Given the description of an element on the screen output the (x, y) to click on. 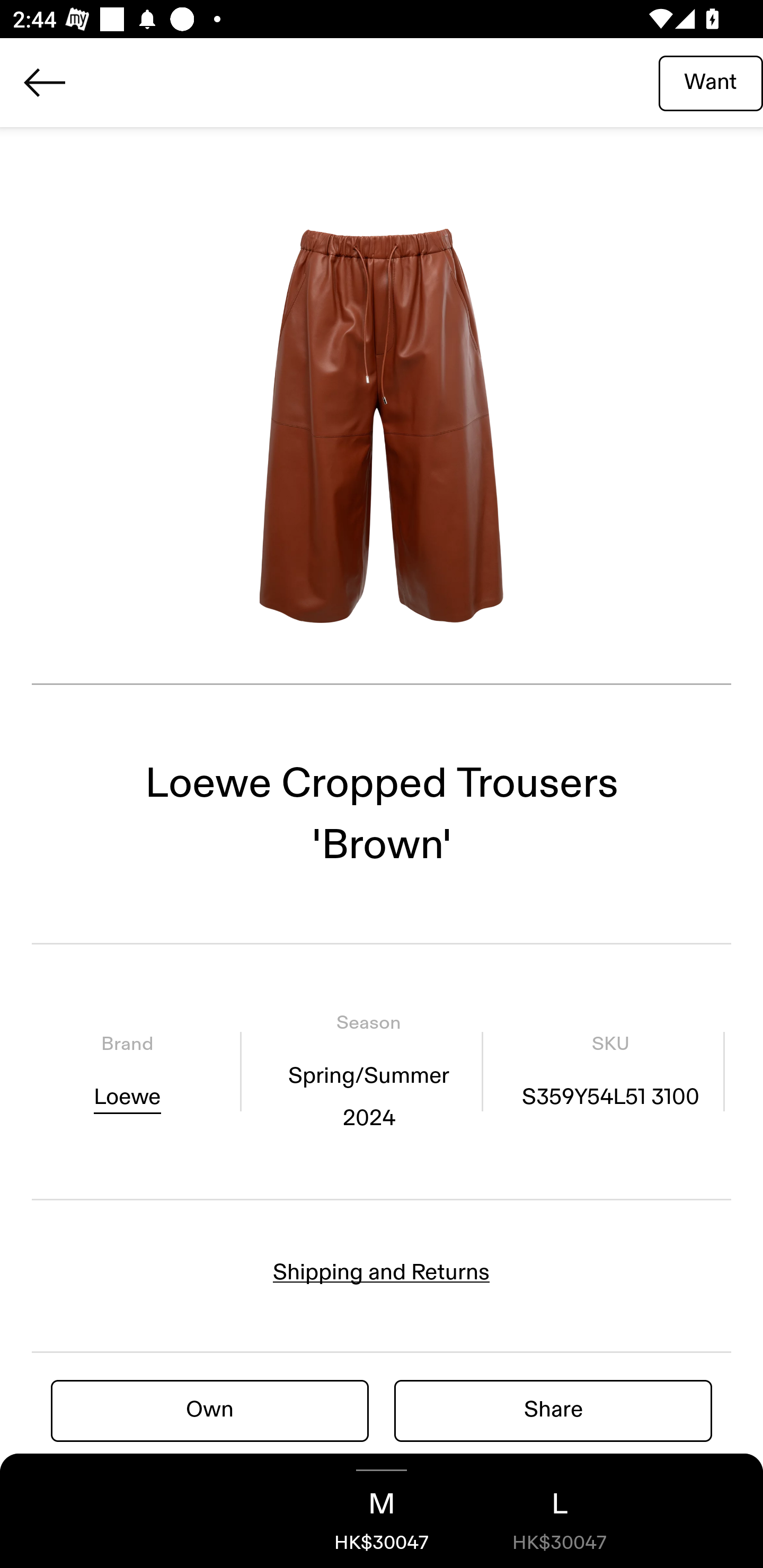
Want (710, 82)
Brand Loewe (126, 1070)
Season Spring/Summer 2024 (368, 1070)
SKU S359Y54L51 3100 (609, 1070)
Shipping and Returns (381, 1272)
Own (209, 1410)
Share (552, 1410)
M HK$30047 (381, 1510)
L HK$30047 (559, 1510)
